Given the description of an element on the screen output the (x, y) to click on. 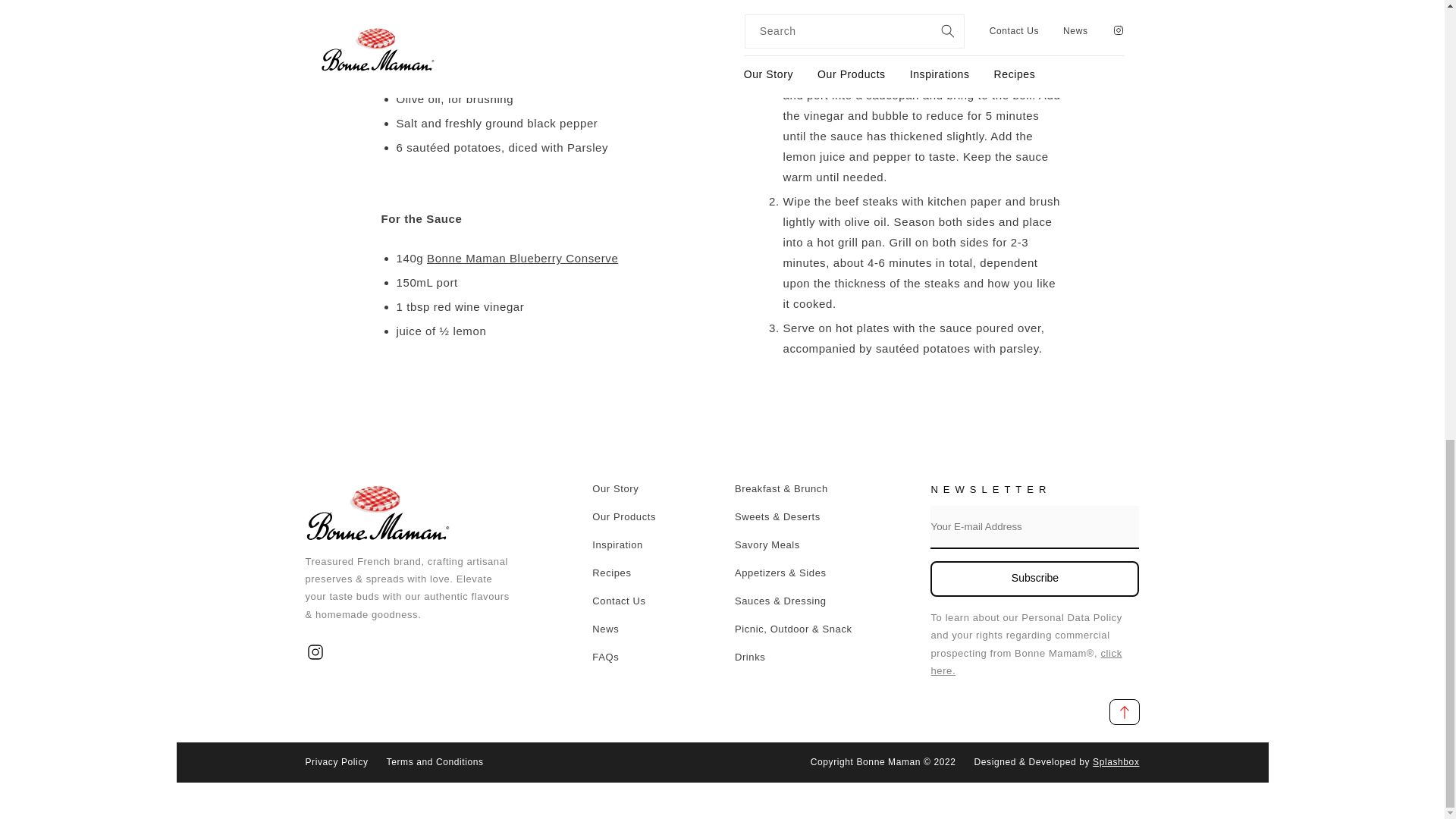
Bonne Maman Blueberry Conserve (521, 257)
